Given the description of an element on the screen output the (x, y) to click on. 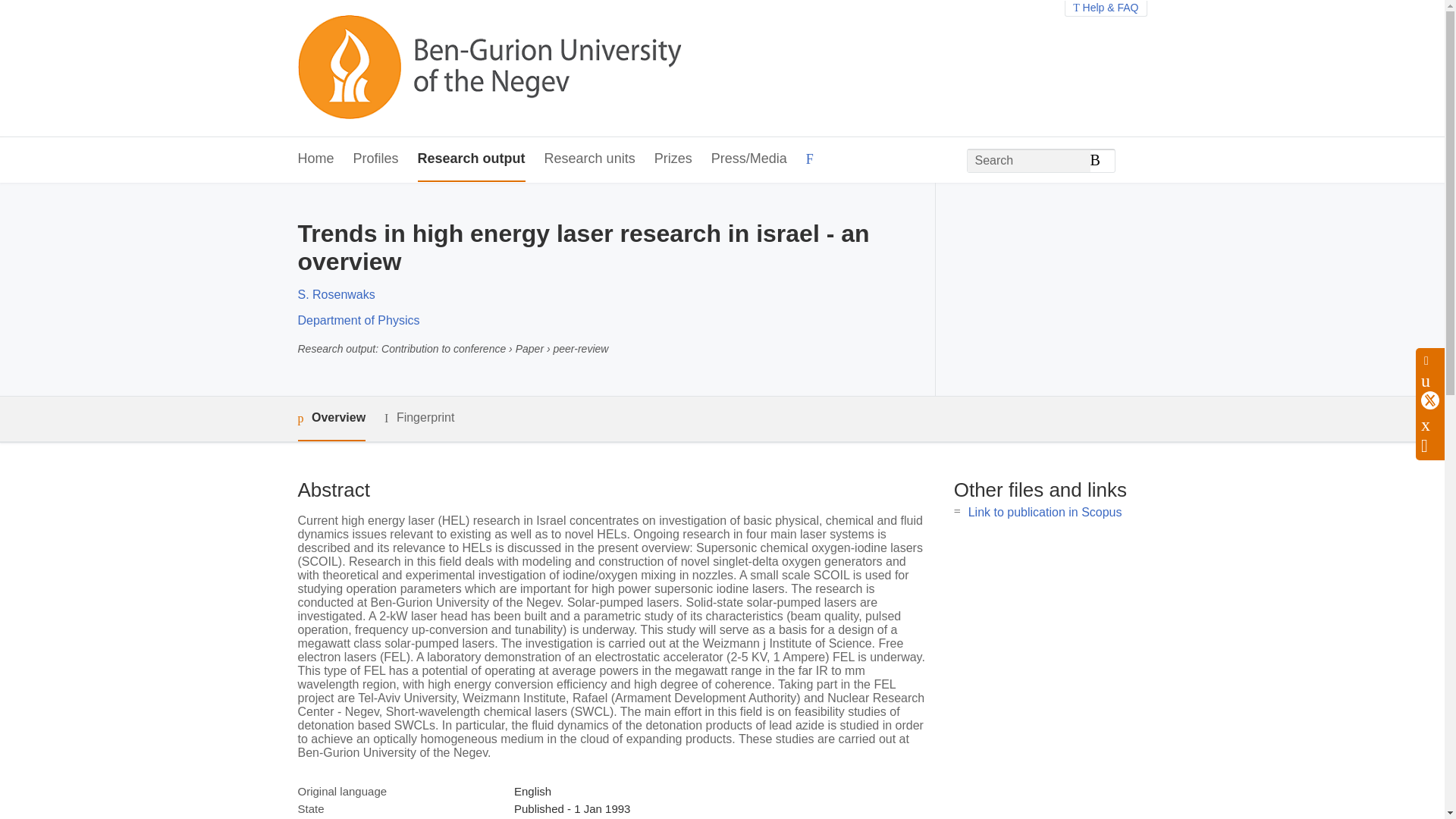
Fingerprint (419, 417)
Profiles (375, 159)
Ben-Gurion University Research Portal Home (489, 68)
Research output (471, 159)
Research units (589, 159)
Department of Physics (358, 319)
Link to publication in Scopus (1045, 512)
Overview (331, 418)
S. Rosenwaks (335, 294)
